Given the description of an element on the screen output the (x, y) to click on. 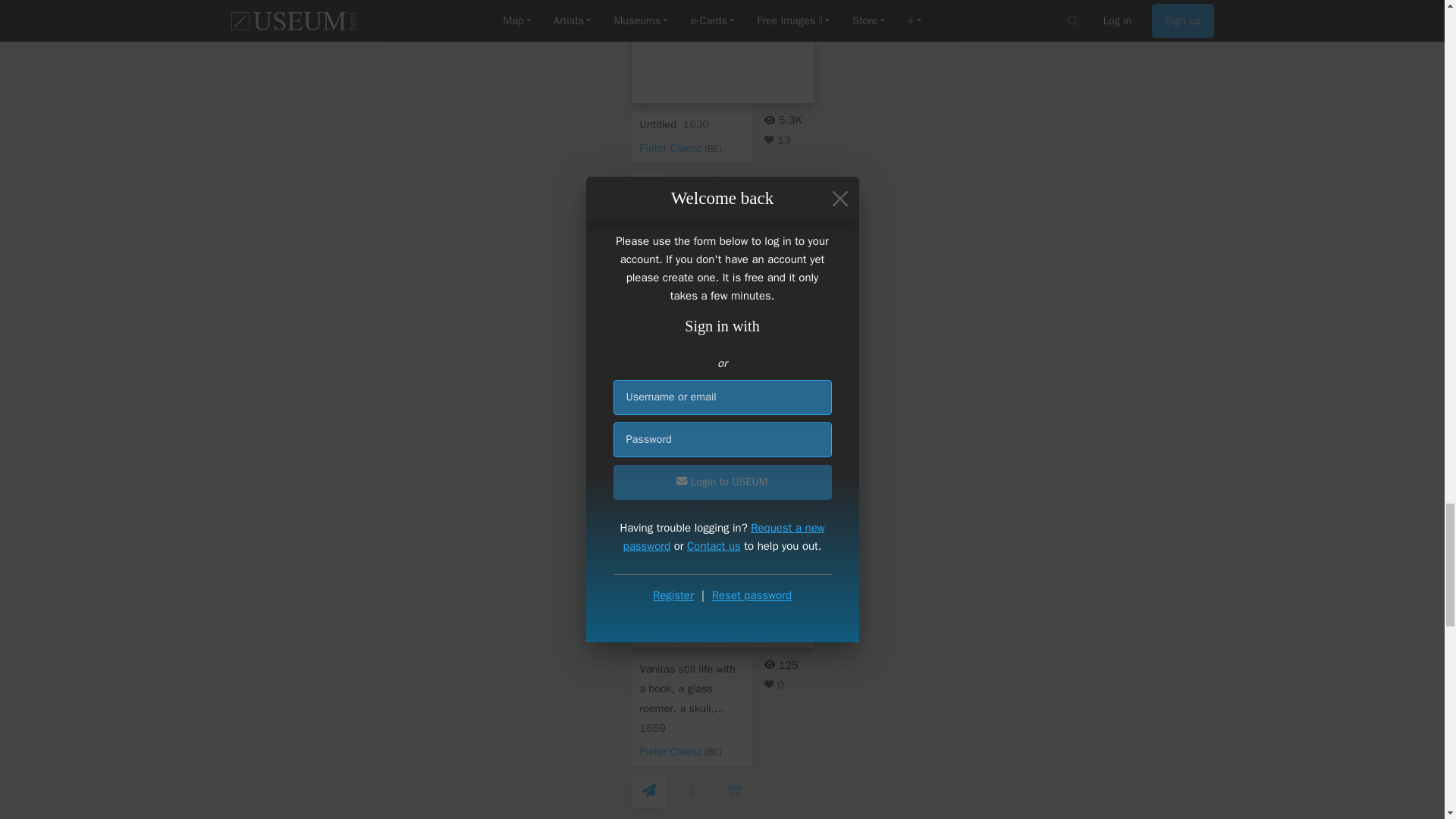
BE (713, 417)
BE (713, 148)
BE (713, 752)
